Given the description of an element on the screen output the (x, y) to click on. 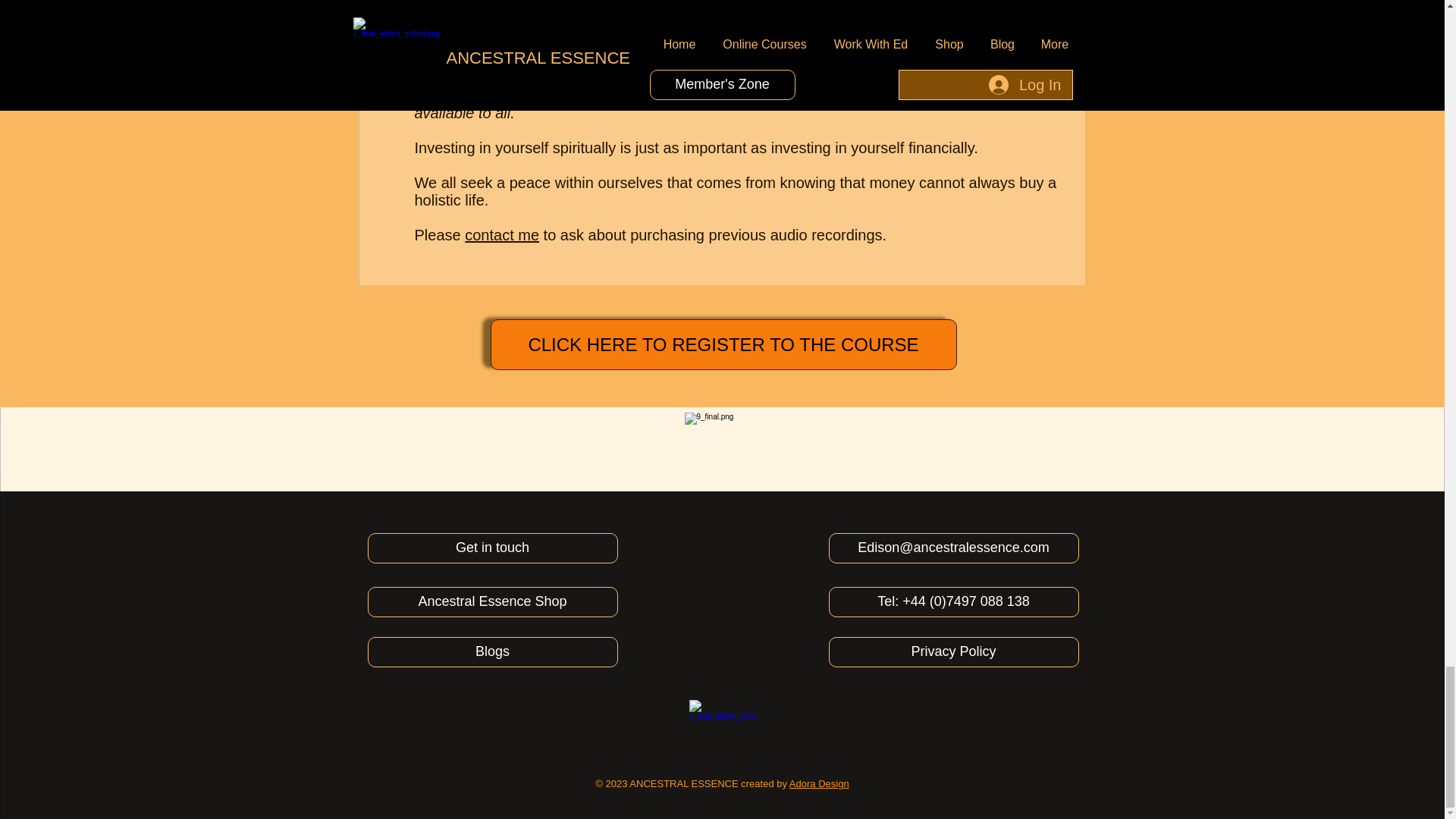
CLICK HERE TO REGISTER TO THE COURSE (722, 344)
Adora Design (818, 783)
Ancestral Essence Shop (491, 602)
Blogs (491, 652)
Get in touch (491, 548)
contact me (501, 234)
Privacy Policy (953, 652)
